Given the description of an element on the screen output the (x, y) to click on. 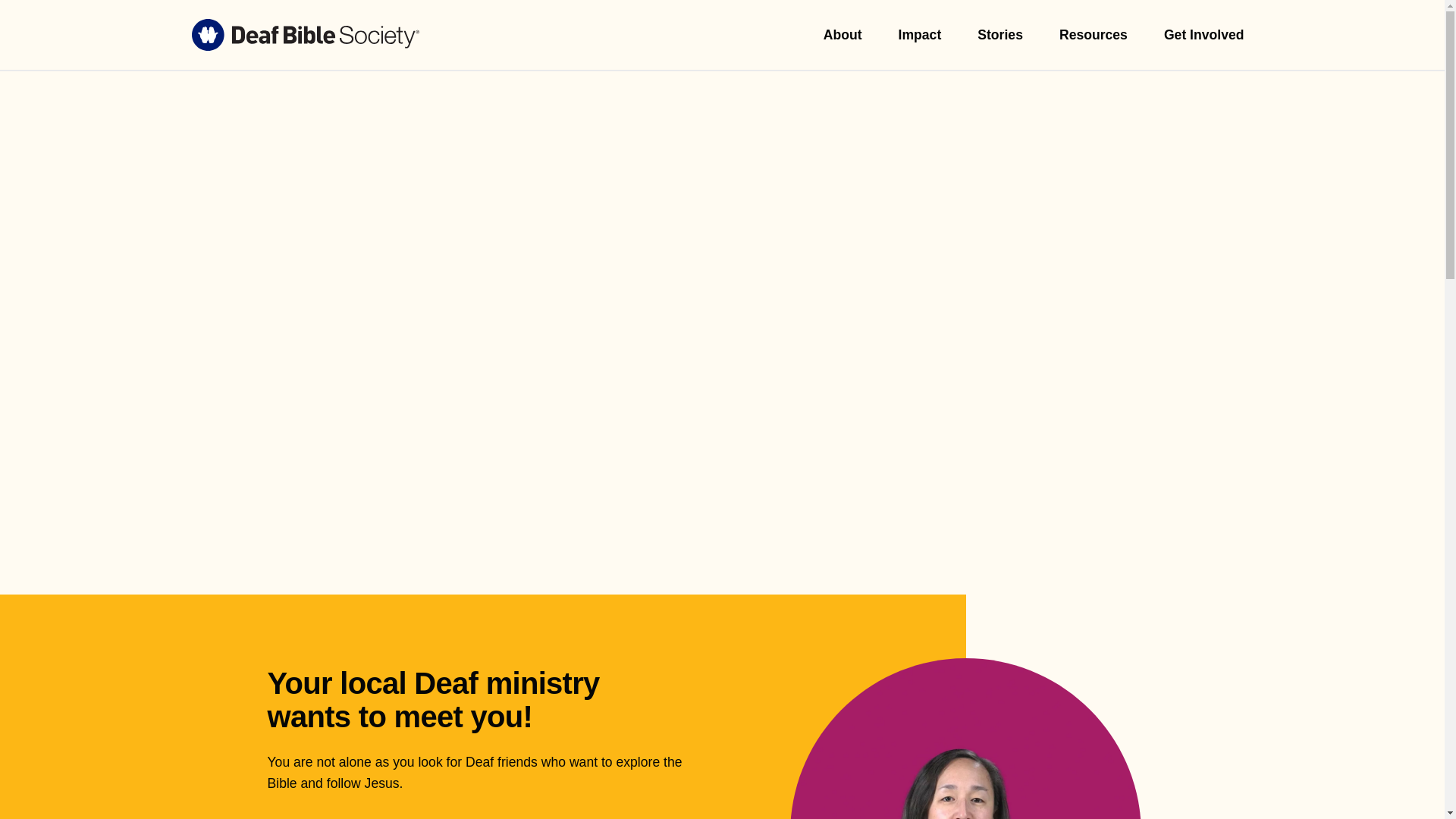
Resources (1093, 34)
Get Involved (1203, 34)
Stories (1000, 34)
